Given the description of an element on the screen output the (x, y) to click on. 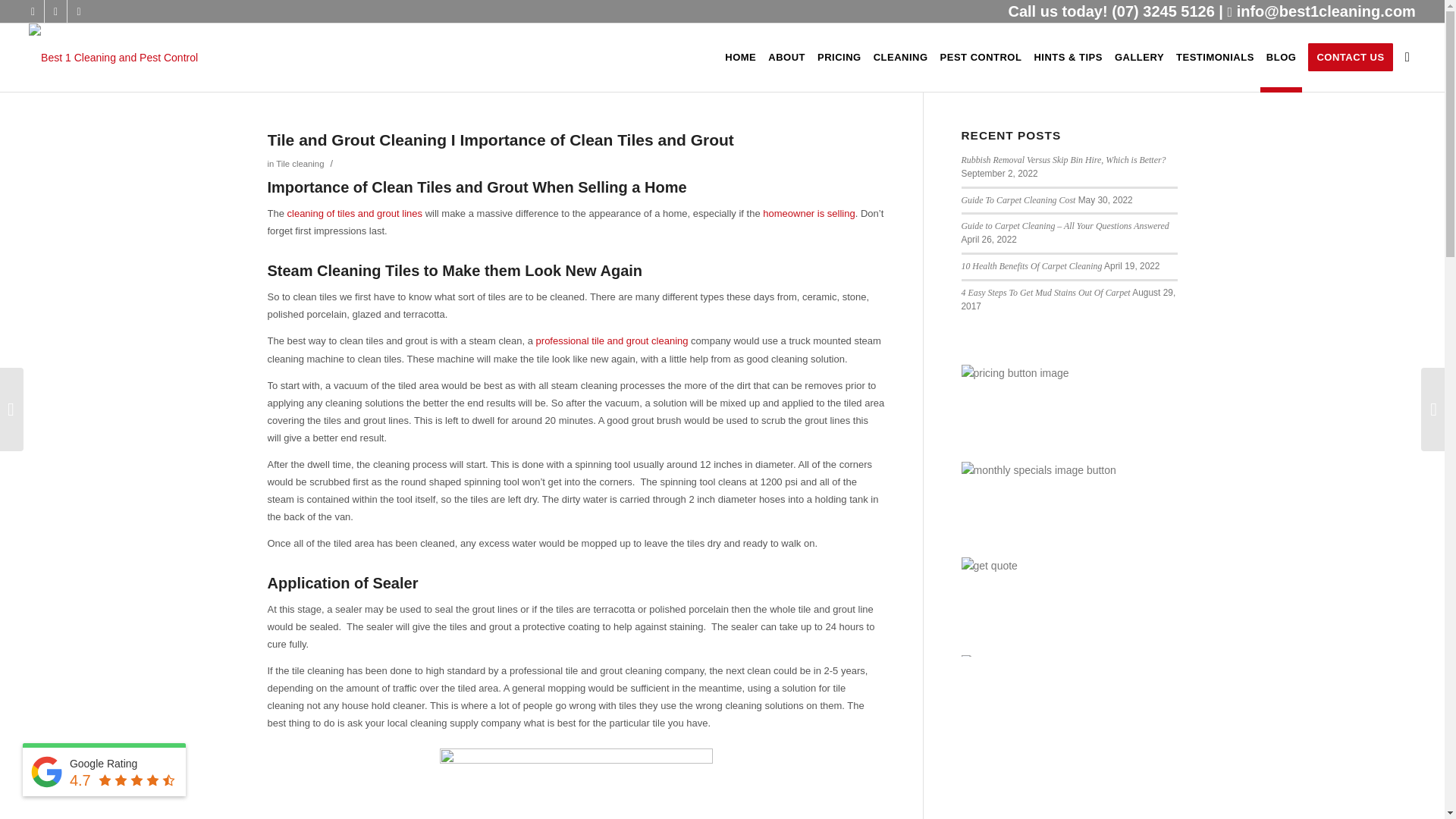
Twitter (55, 11)
Youtube (78, 11)
CLEANING (900, 57)
PEST CONTROL (980, 57)
Facebook (32, 11)
GALLERY (1139, 57)
